Given the description of an element on the screen output the (x, y) to click on. 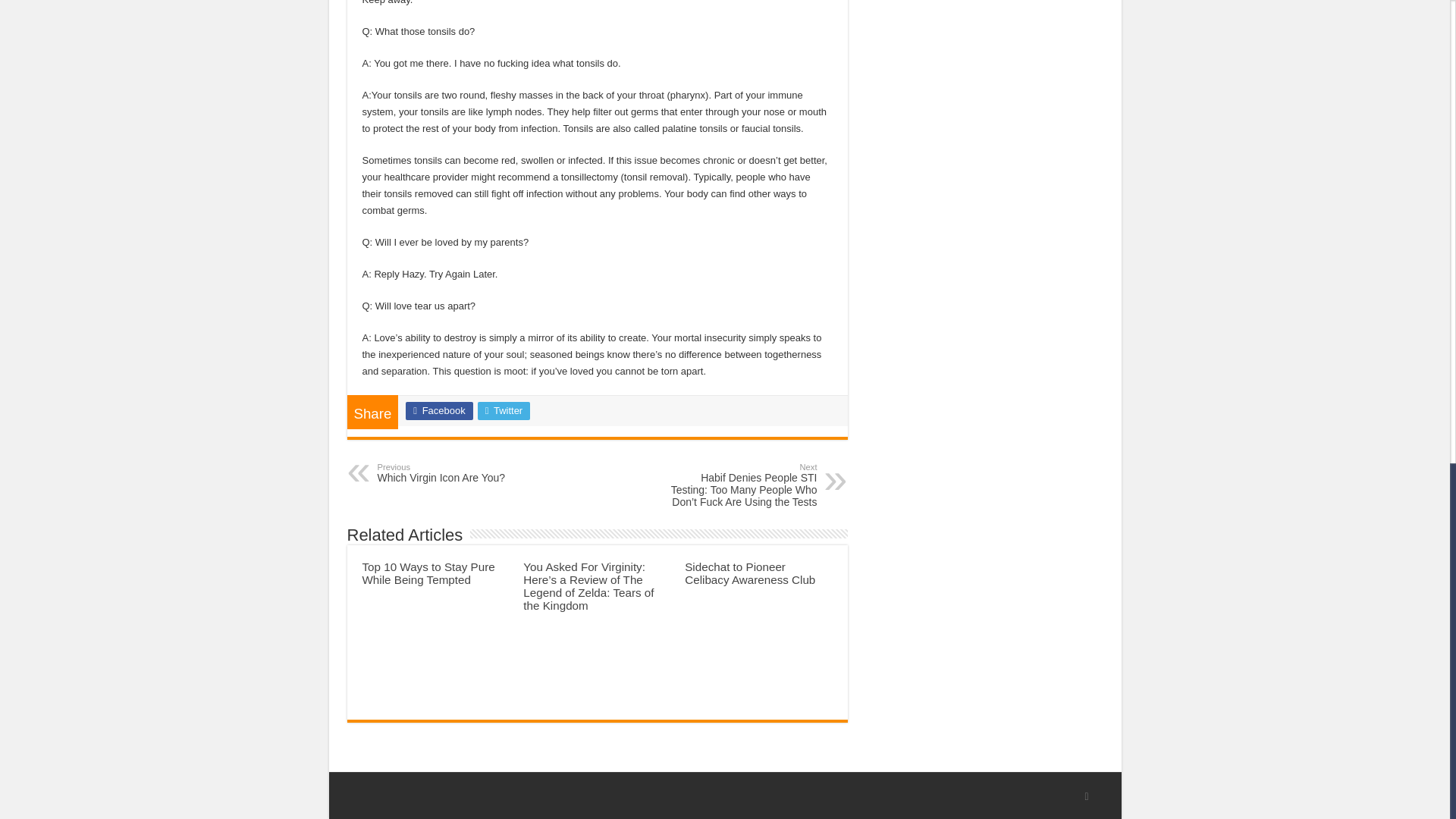
Sidechat to Pioneer Celibacy Awareness Club (454, 473)
Facebook (749, 573)
Twitter (438, 411)
Top 10 Ways to Stay Pure While Being Tempted (503, 411)
